Given the description of an element on the screen output the (x, y) to click on. 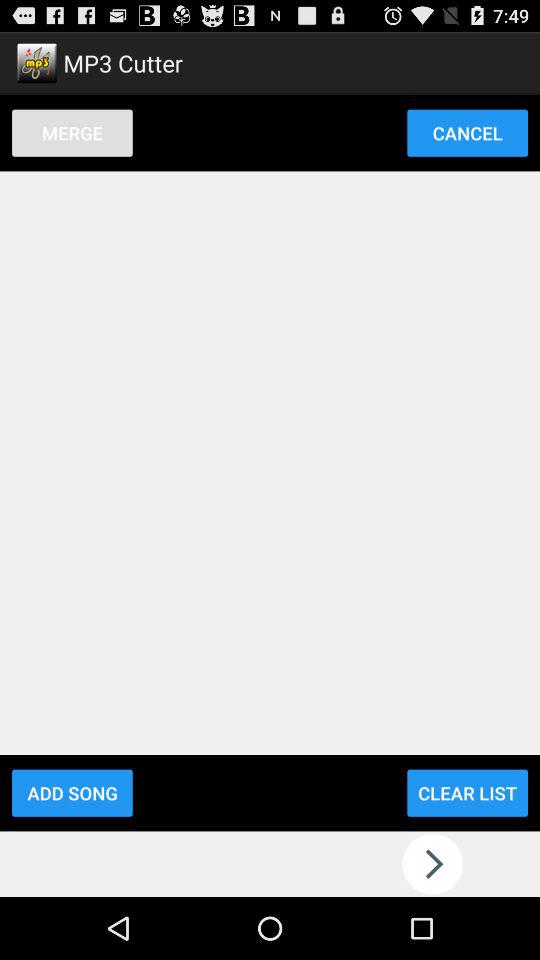
jump until clear list icon (467, 792)
